Given the description of an element on the screen output the (x, y) to click on. 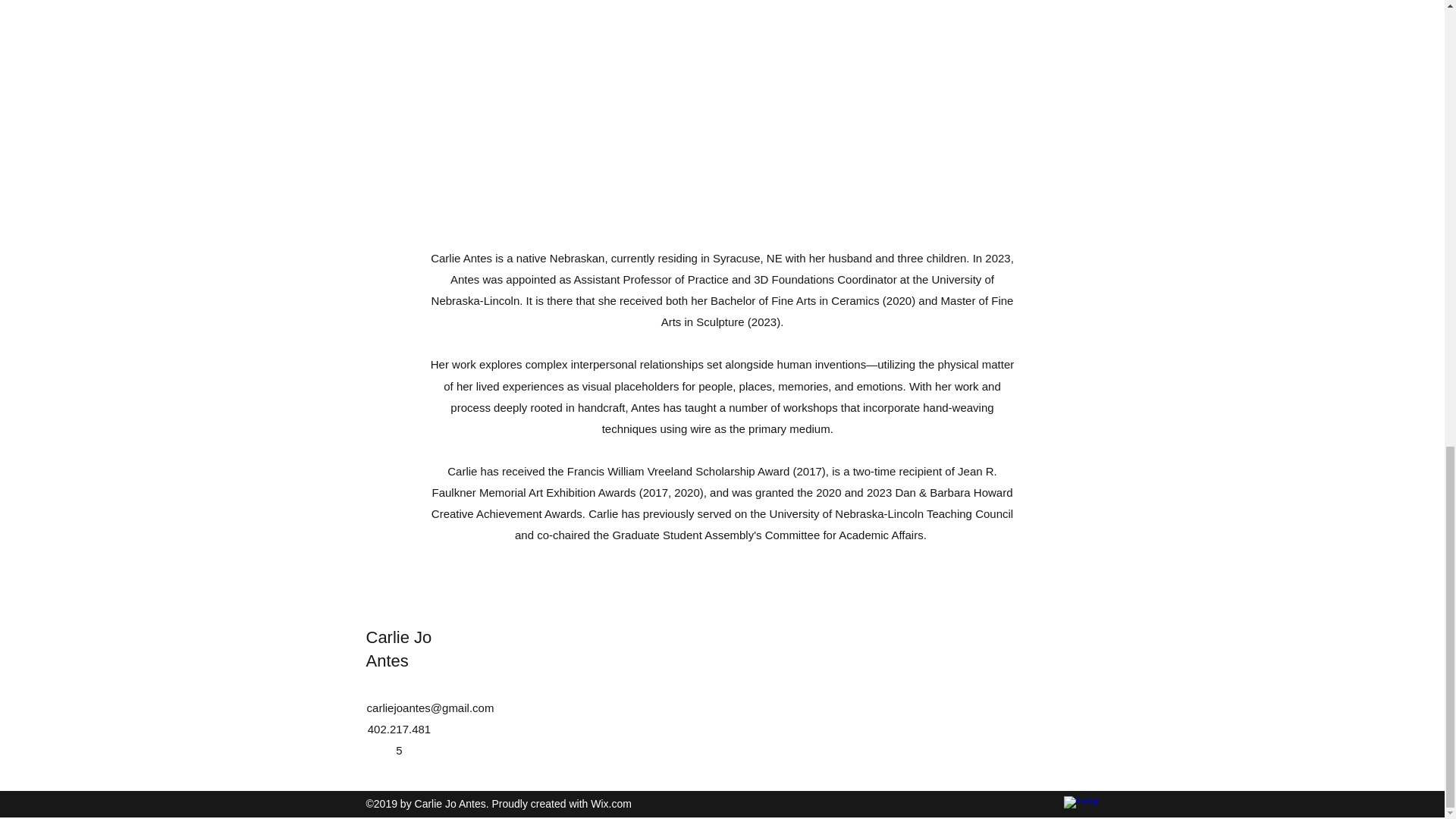
Carlie Jo Antes (397, 649)
